Given the description of an element on the screen output the (x, y) to click on. 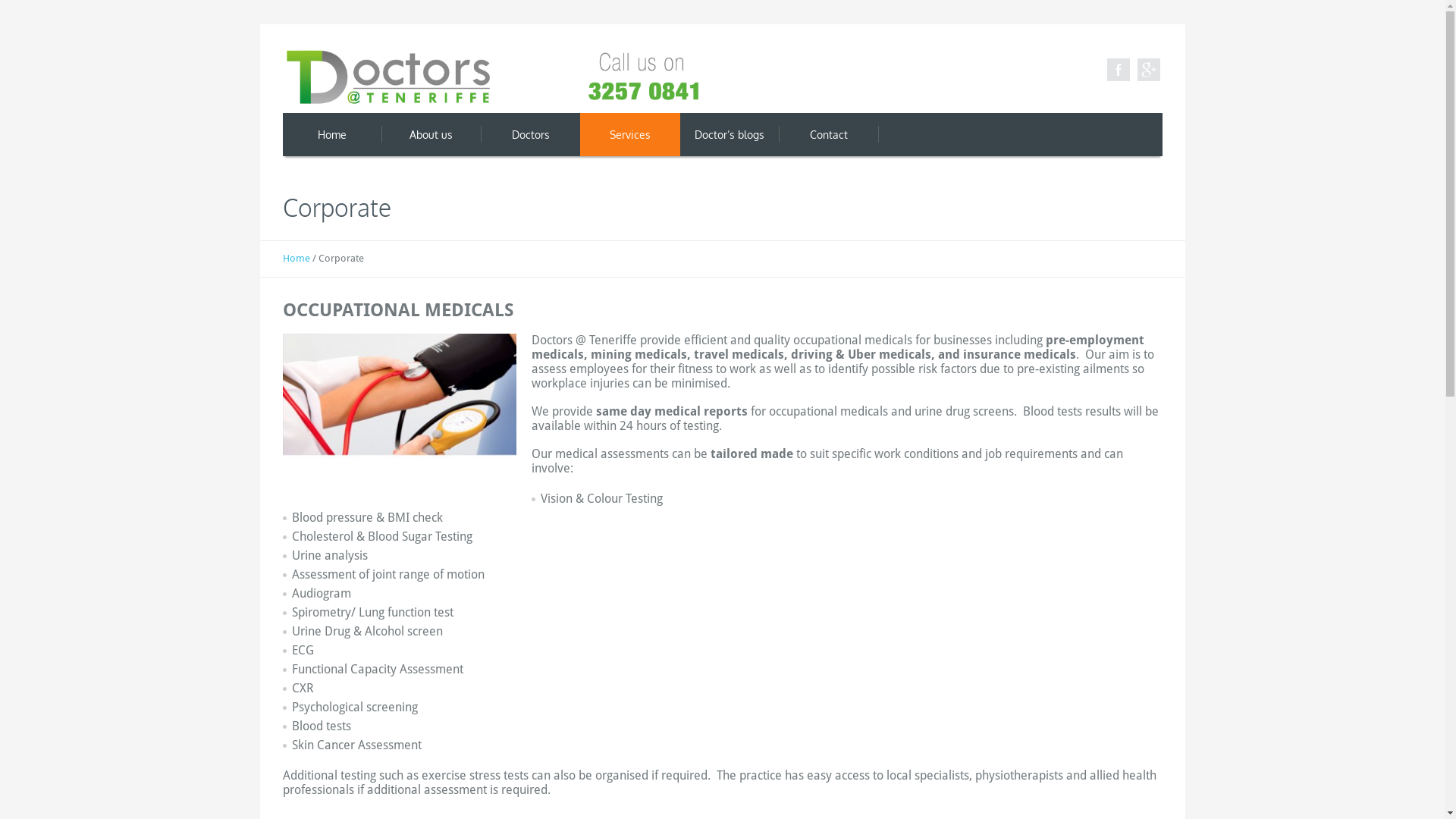
https://plus.google.com/118370300779912099813/ Element type: hover (1148, 69)
Home Element type: text (332, 134)
Services Element type: text (629, 134)
About us Element type: text (430, 134)
Home Element type: text (295, 257)
Contact Element type: text (828, 134)
Doctors Element type: text (530, 134)
